Given the description of an element on the screen output the (x, y) to click on. 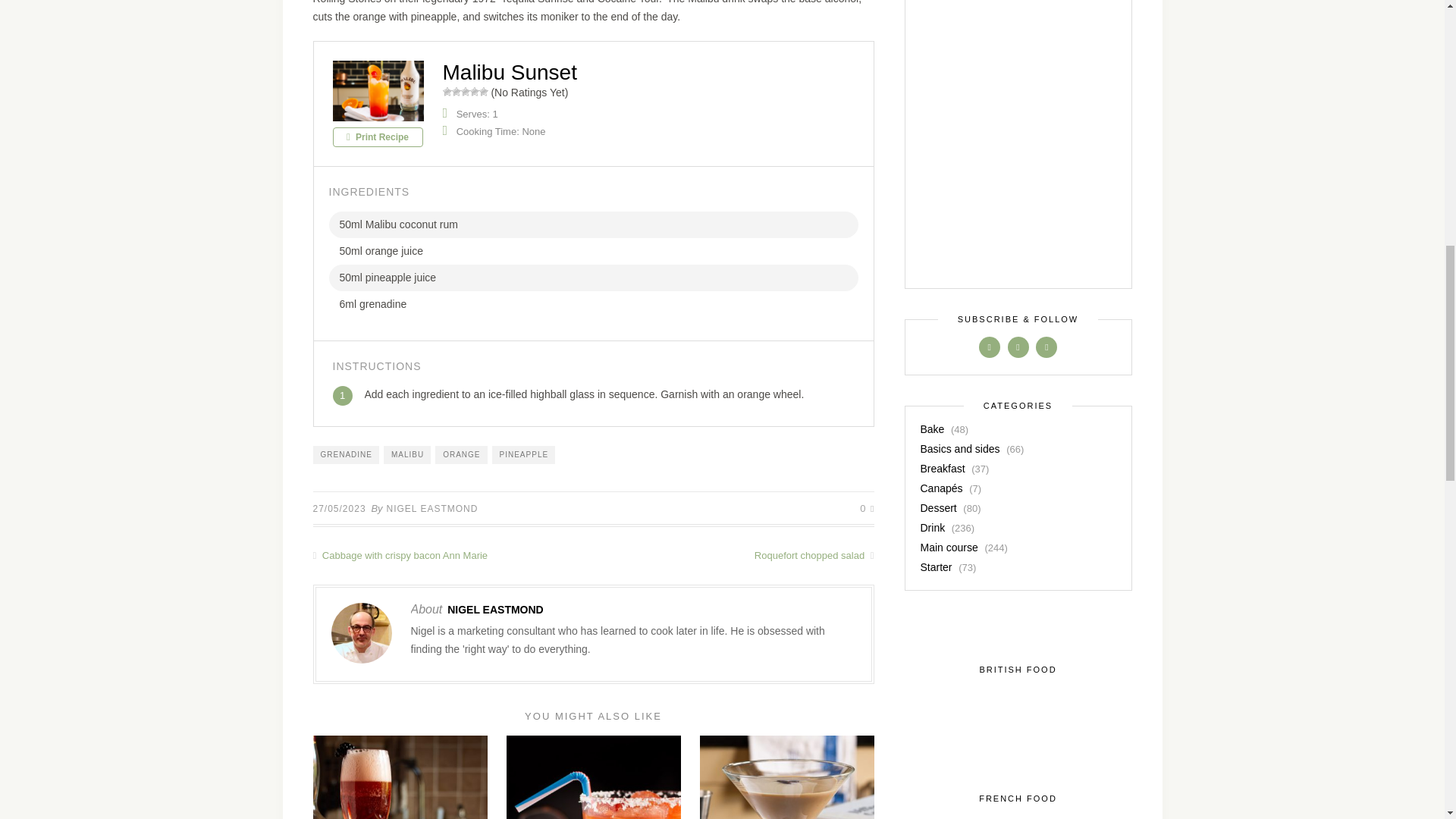
ORANGE (460, 454)
Advertisement (1018, 135)
Print Recipe (376, 137)
4 Stars (474, 91)
2 Stars (456, 91)
GRENADINE (345, 454)
1 Star (446, 91)
PINEAPPLE (524, 454)
Posts by Nigel Eastmond (494, 609)
Posts by Nigel Eastmond (433, 508)
3 Stars (465, 91)
5 Stars (483, 91)
MALIBU (407, 454)
